Given the description of an element on the screen output the (x, y) to click on. 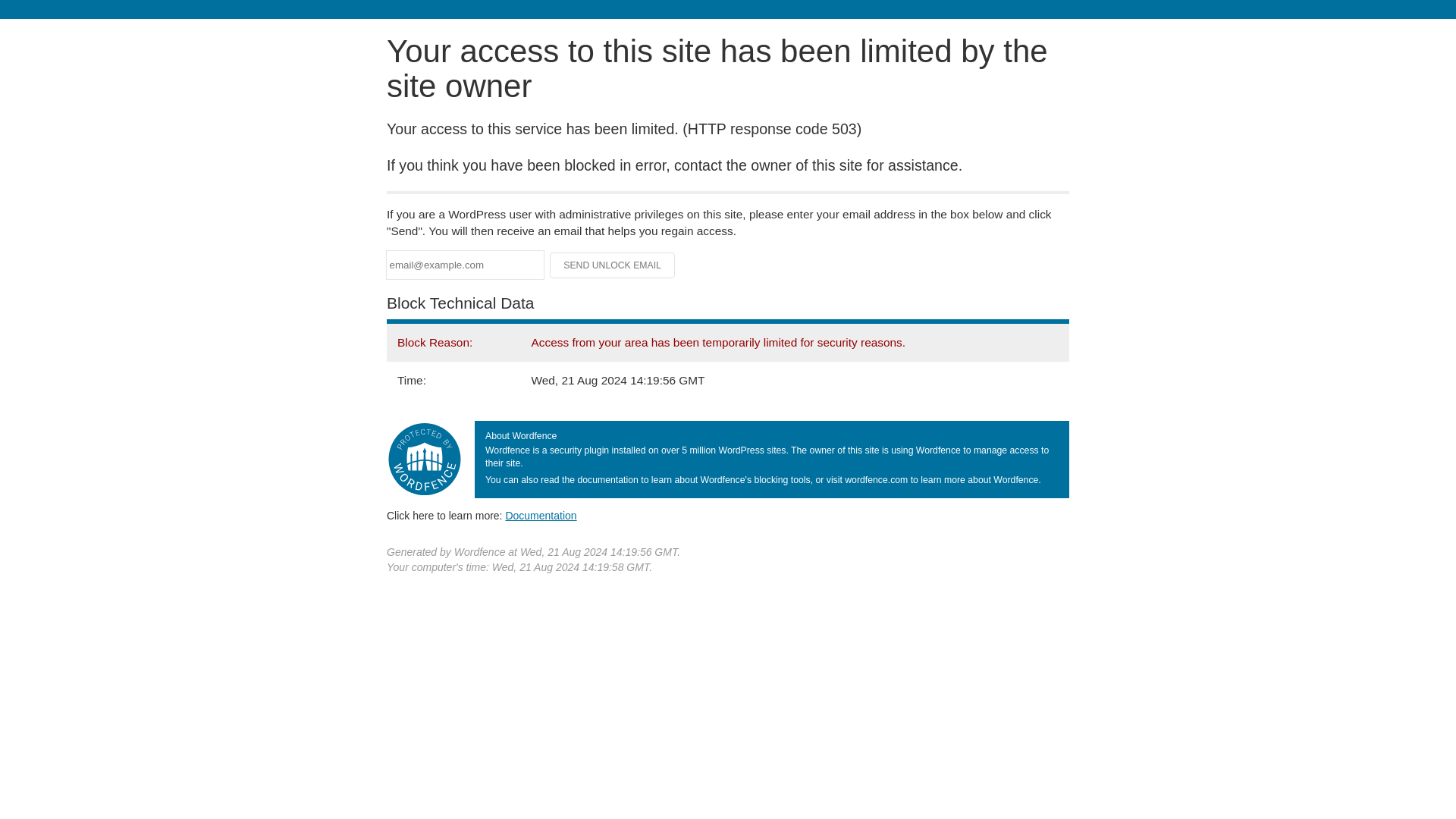
Send Unlock Email (612, 265)
Send Unlock Email (612, 265)
Documentation (540, 515)
